Given the description of an element on the screen output the (x, y) to click on. 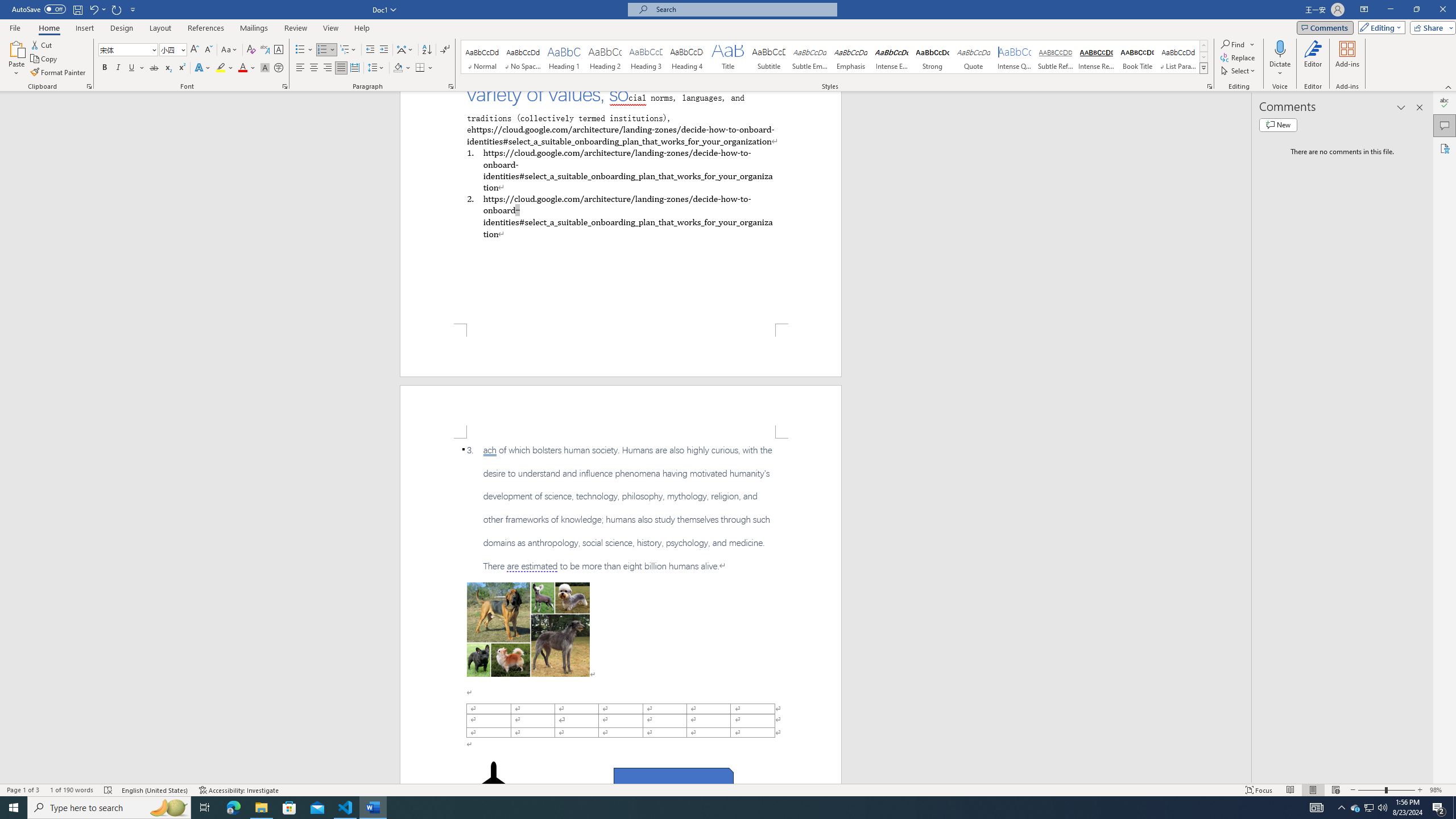
Design (122, 28)
Replace... (1237, 56)
Class: MsoCommandBar (728, 789)
Page 1 content (620, 207)
System (6, 6)
Quick Access Toolbar (74, 9)
Repeat Style (117, 9)
Find (1237, 44)
Asian Layout (405, 49)
More Options (1280, 68)
Dictate (1280, 58)
Italic (118, 67)
Read Mode (1290, 790)
Zoom (1386, 790)
Bullets (300, 49)
